Given the description of an element on the screen output the (x, y) to click on. 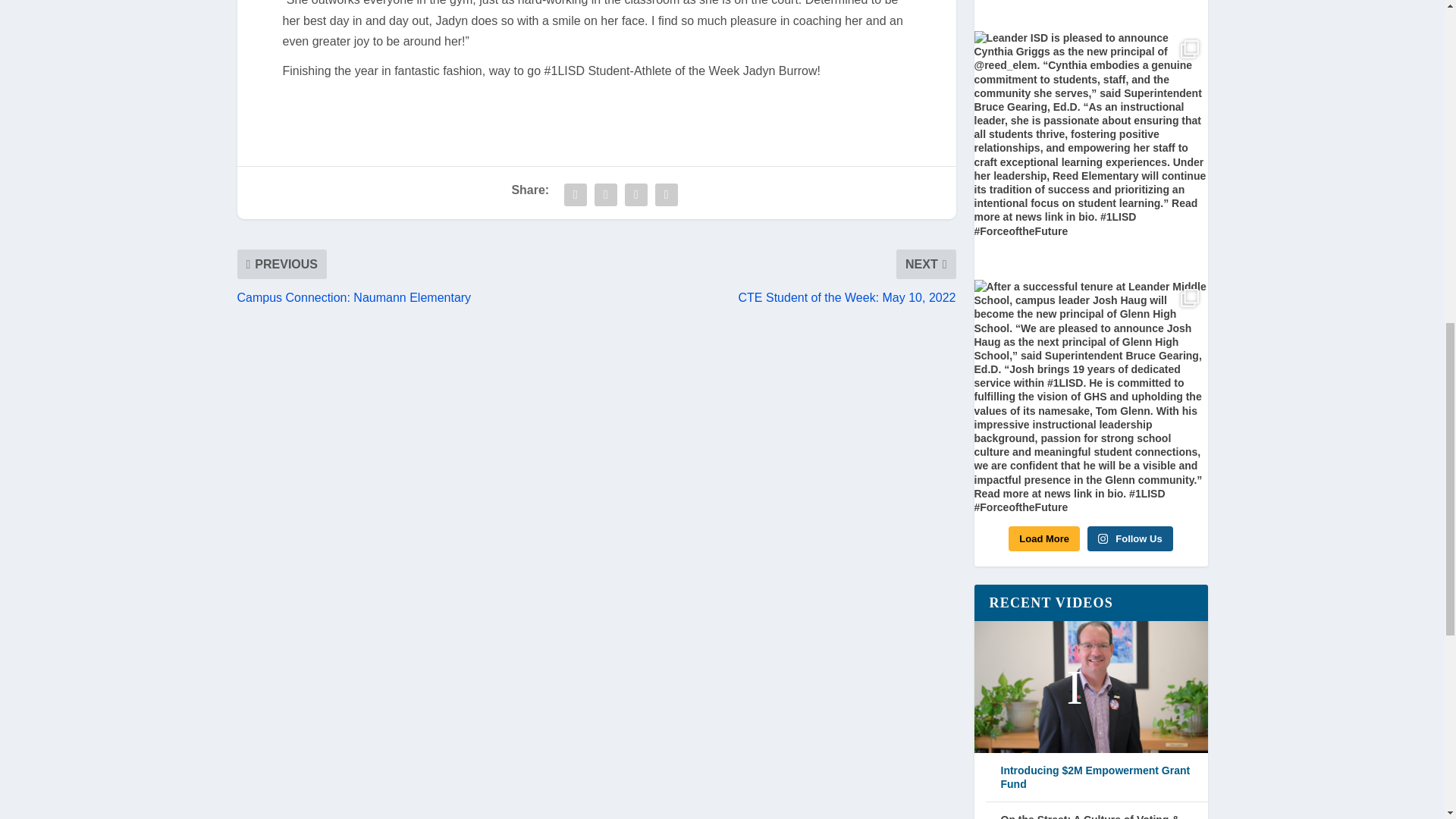
Share "Student-Athlete of the Week: May 9, 2022" via Print (665, 194)
Share "Student-Athlete of the Week: May 9, 2022" via Email (635, 194)
Share "Student-Athlete of the Week: May 9, 2022" via Twitter (606, 194)
